Given the description of an element on the screen output the (x, y) to click on. 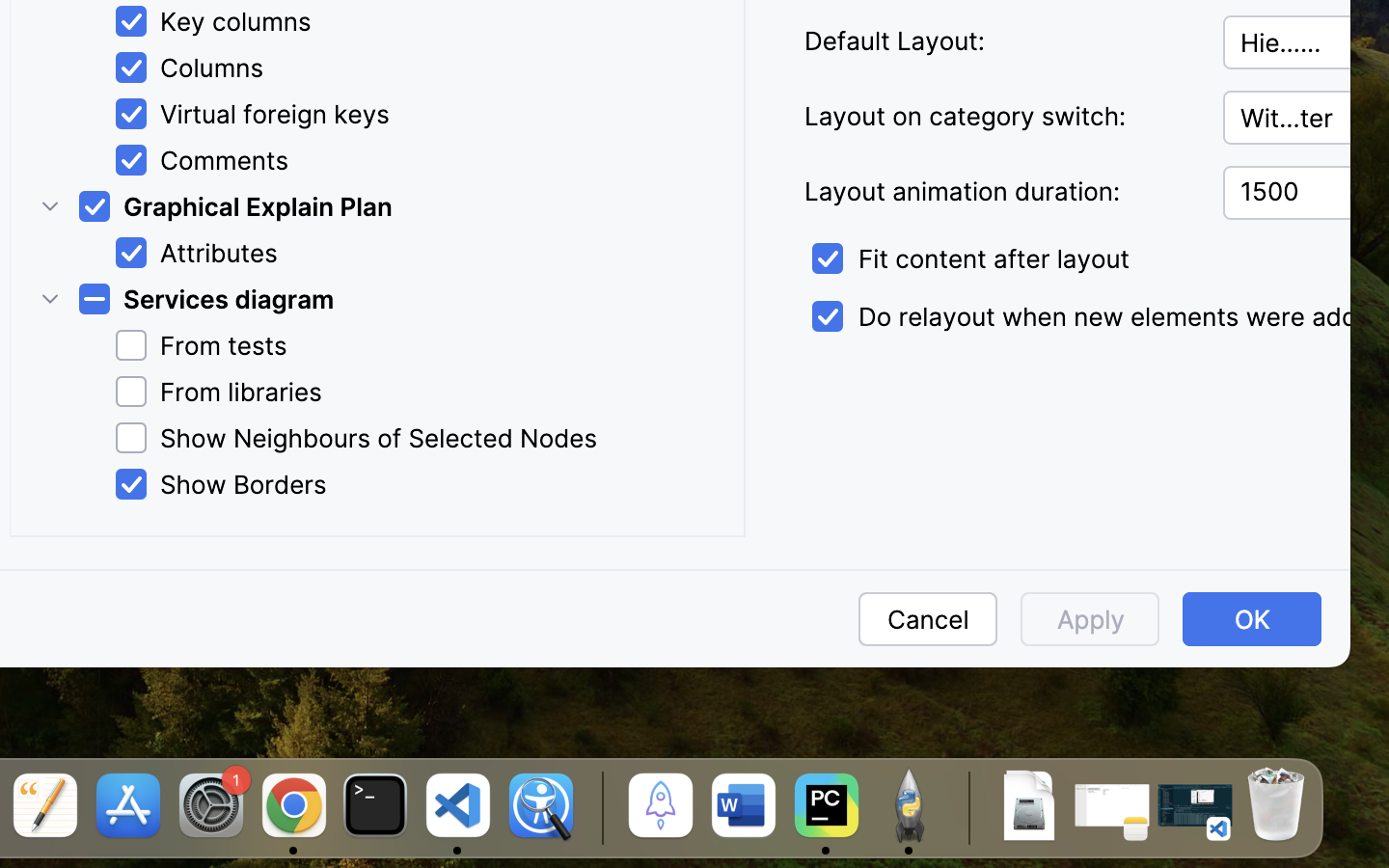
Layout animation duration: Element type: AXStaticText (1001, 191)
0.4285714328289032 Element type: AXDockItem (598, 807)
1 Element type: AXCheckBox (1095, 317)
Layout on category switch: Element type: AXStaticText (1001, 116)
Default Layout: Element type: AXStaticText (1001, 41)
